Given the description of an element on the screen output the (x, y) to click on. 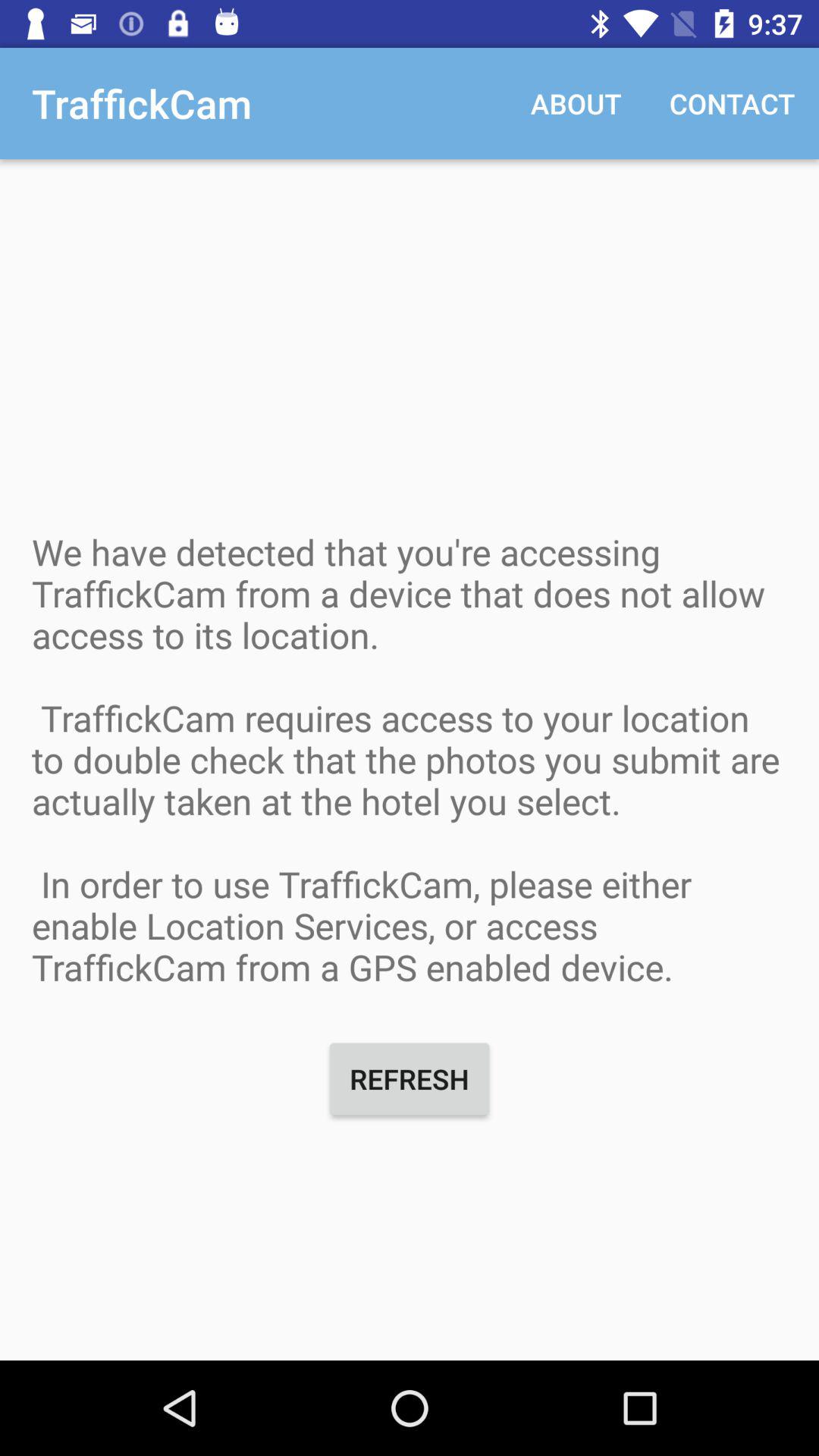
scroll until refresh item (409, 1078)
